Given the description of an element on the screen output the (x, y) to click on. 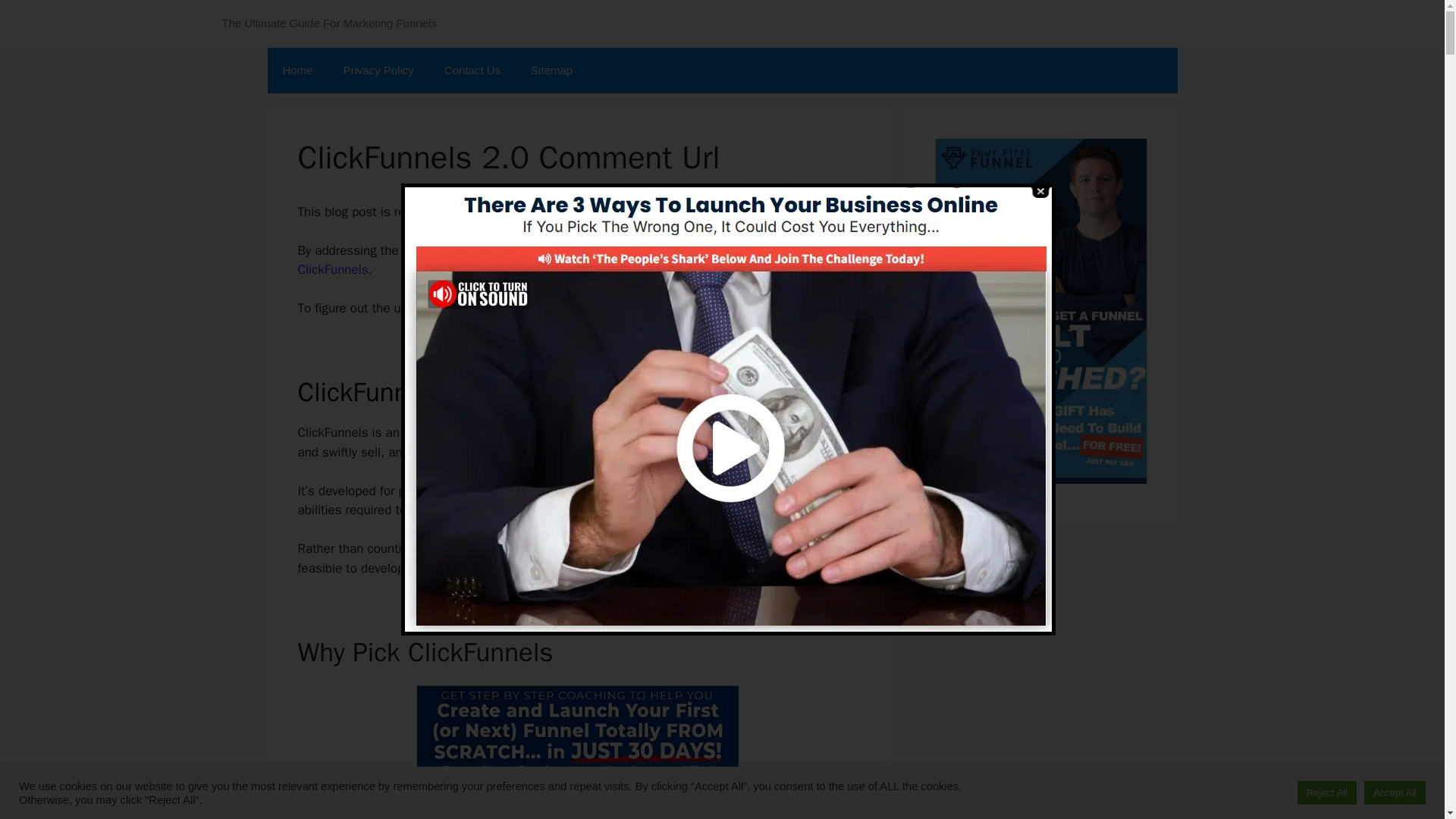
the maximum value of ClickFunnels (543, 260)
Sitemap (551, 69)
Home (296, 69)
Close (1040, 191)
Contact Us (472, 69)
Privacy Policy (379, 69)
